Given the description of an element on the screen output the (x, y) to click on. 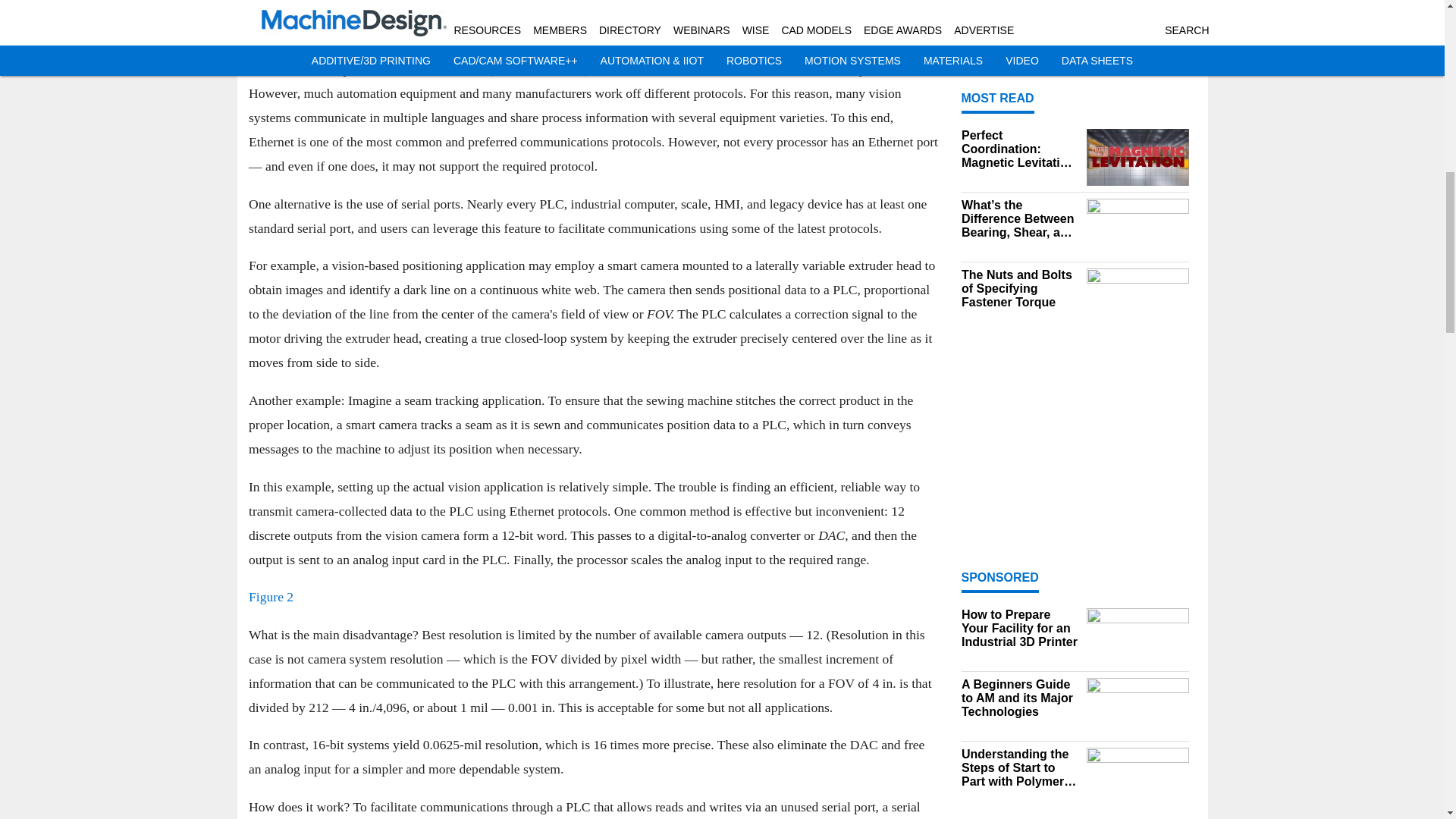
Figure 2 (271, 596)
